Given the description of an element on the screen output the (x, y) to click on. 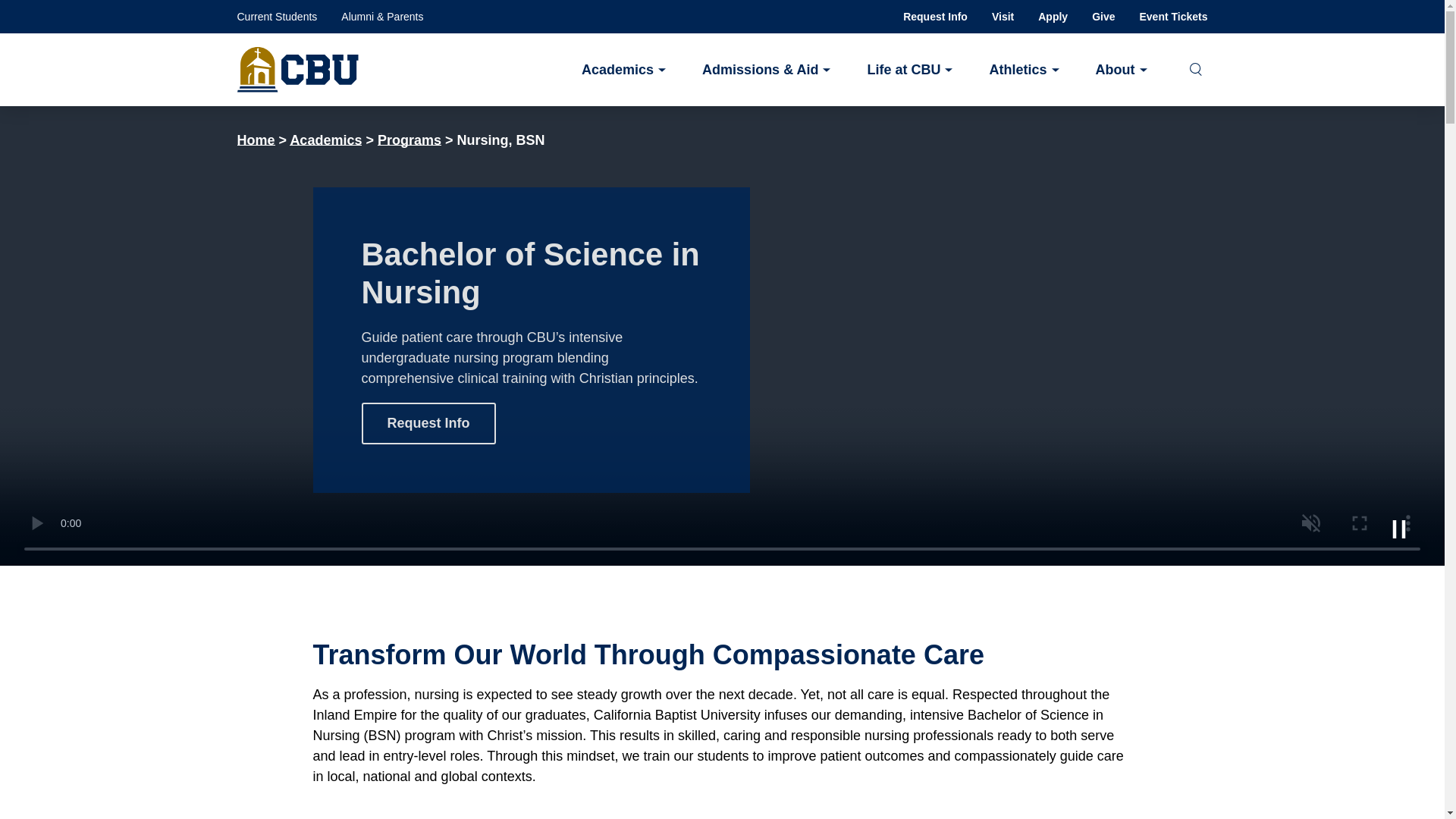
Life at CBU (909, 68)
Skip to main content (721, 22)
CBU (296, 69)
Academics (622, 68)
